Given the description of an element on the screen output the (x, y) to click on. 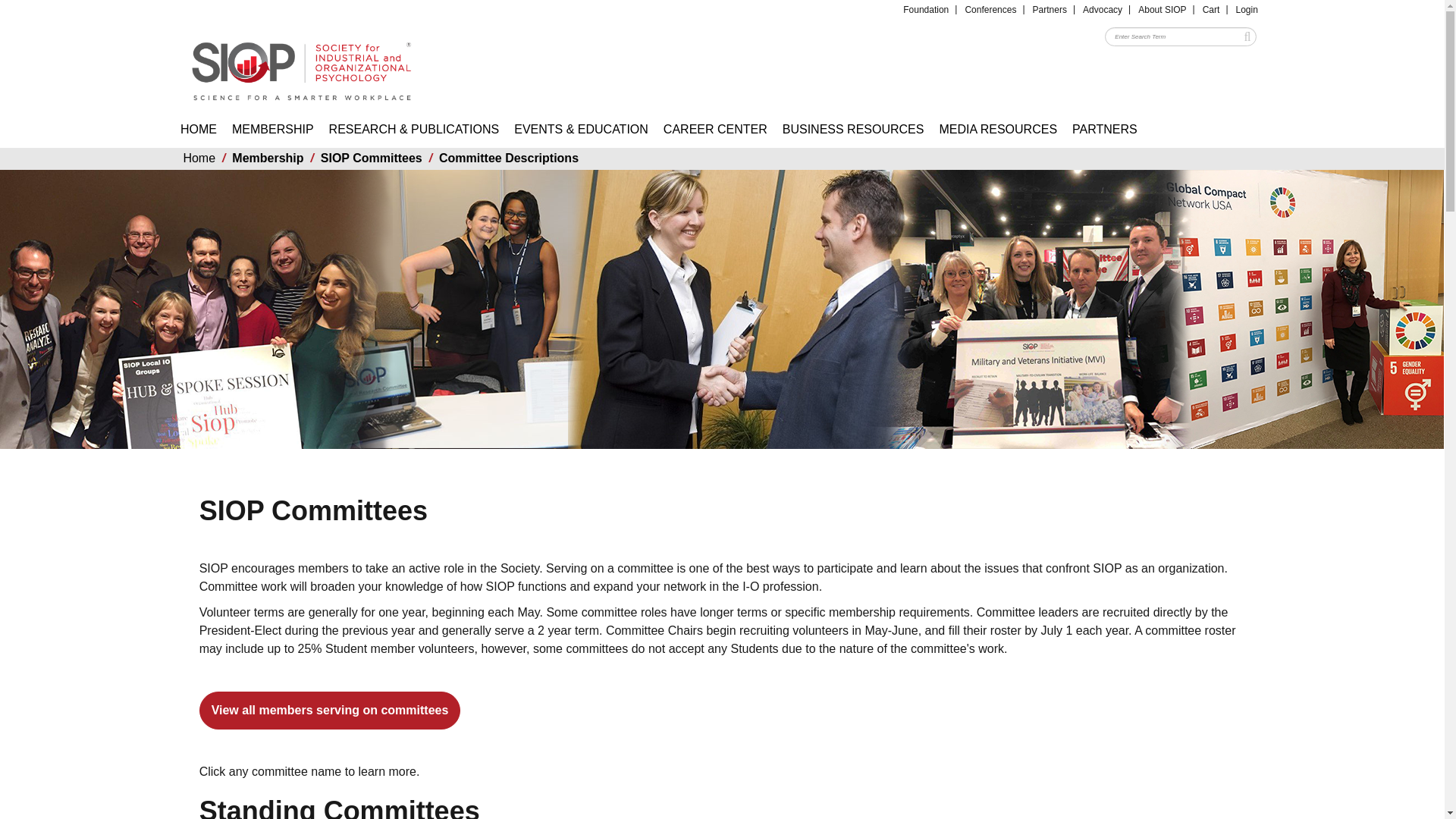
Cart (1210, 9)
Enter Search Term (1180, 36)
Partners (1049, 9)
Login (1246, 9)
About SIOP (1162, 9)
Conferences (990, 9)
HOME (198, 129)
Advocacy (1102, 9)
Partners (1049, 9)
Foundation (925, 9)
Foundation (925, 9)
Conferences (990, 9)
About SIOP (1162, 9)
Society for Industrial and Organizational Psychology (300, 64)
